Given the description of an element on the screen output the (x, y) to click on. 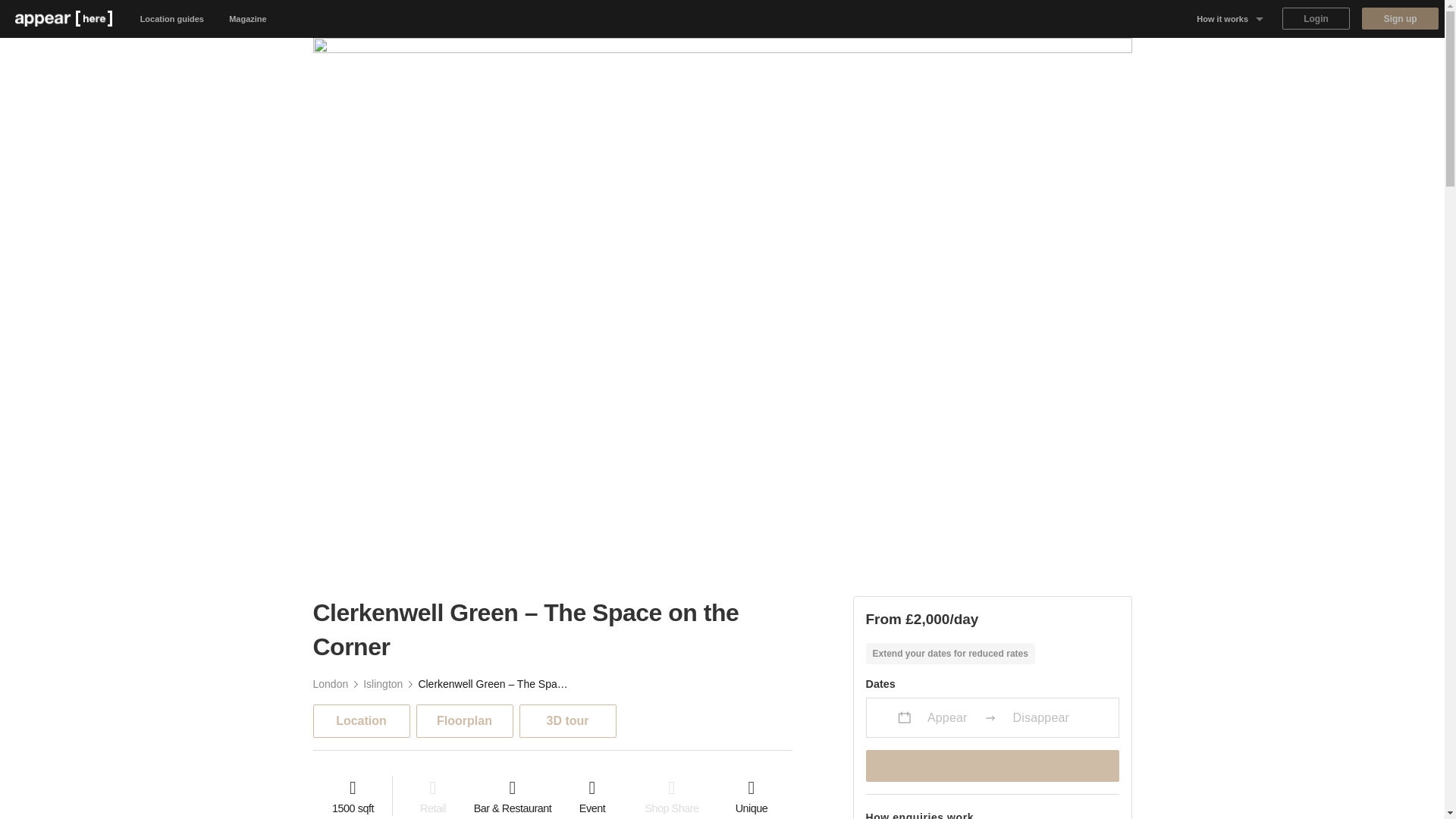
Listing space (1230, 94)
Why Appear Here (1230, 56)
Magazine (247, 18)
Finding space (1230, 132)
Location guides (172, 18)
How it works (1230, 18)
